Given the description of an element on the screen output the (x, y) to click on. 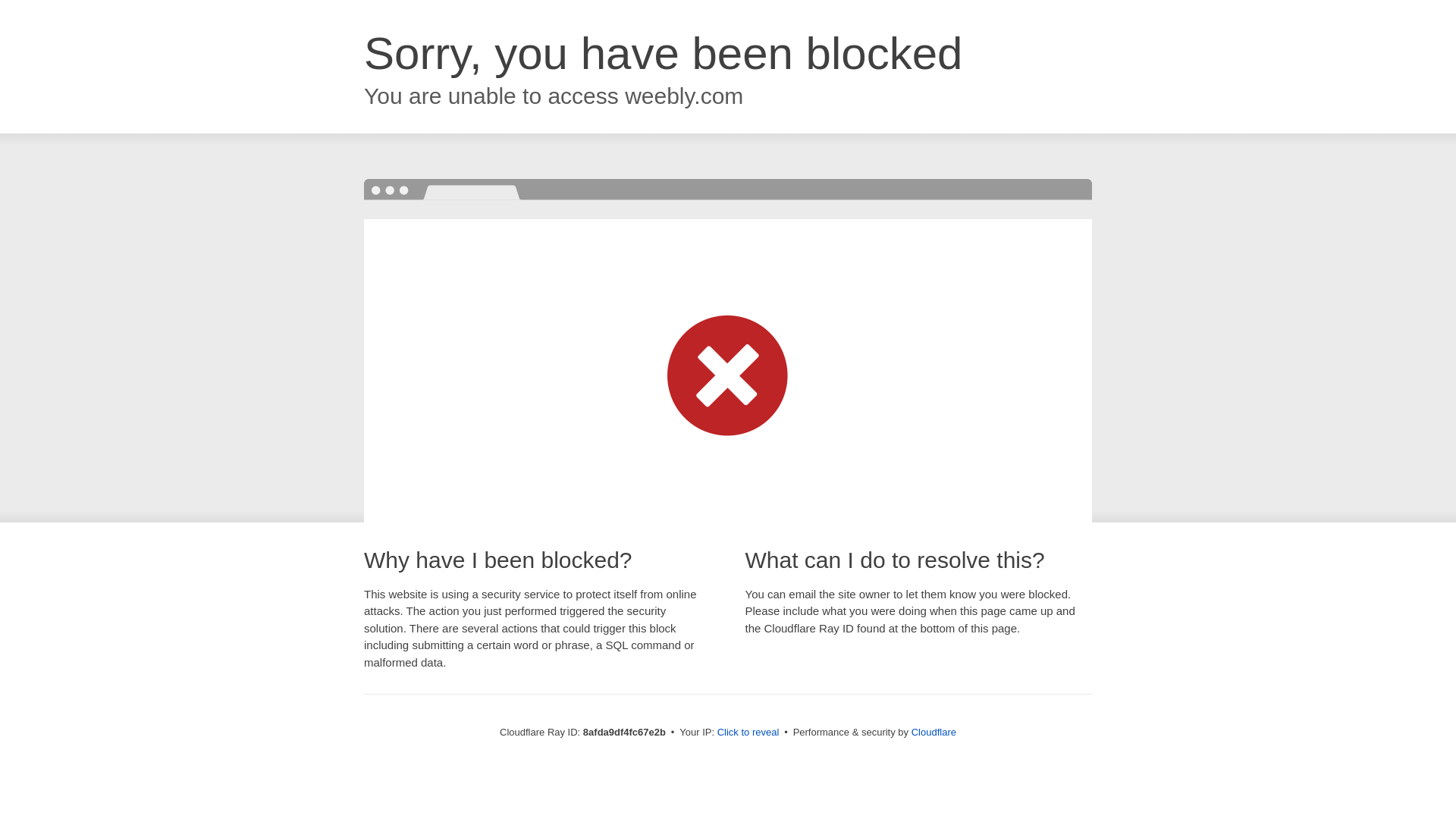
Click to reveal (747, 732)
Cloudflare (933, 731)
